Given the description of an element on the screen output the (x, y) to click on. 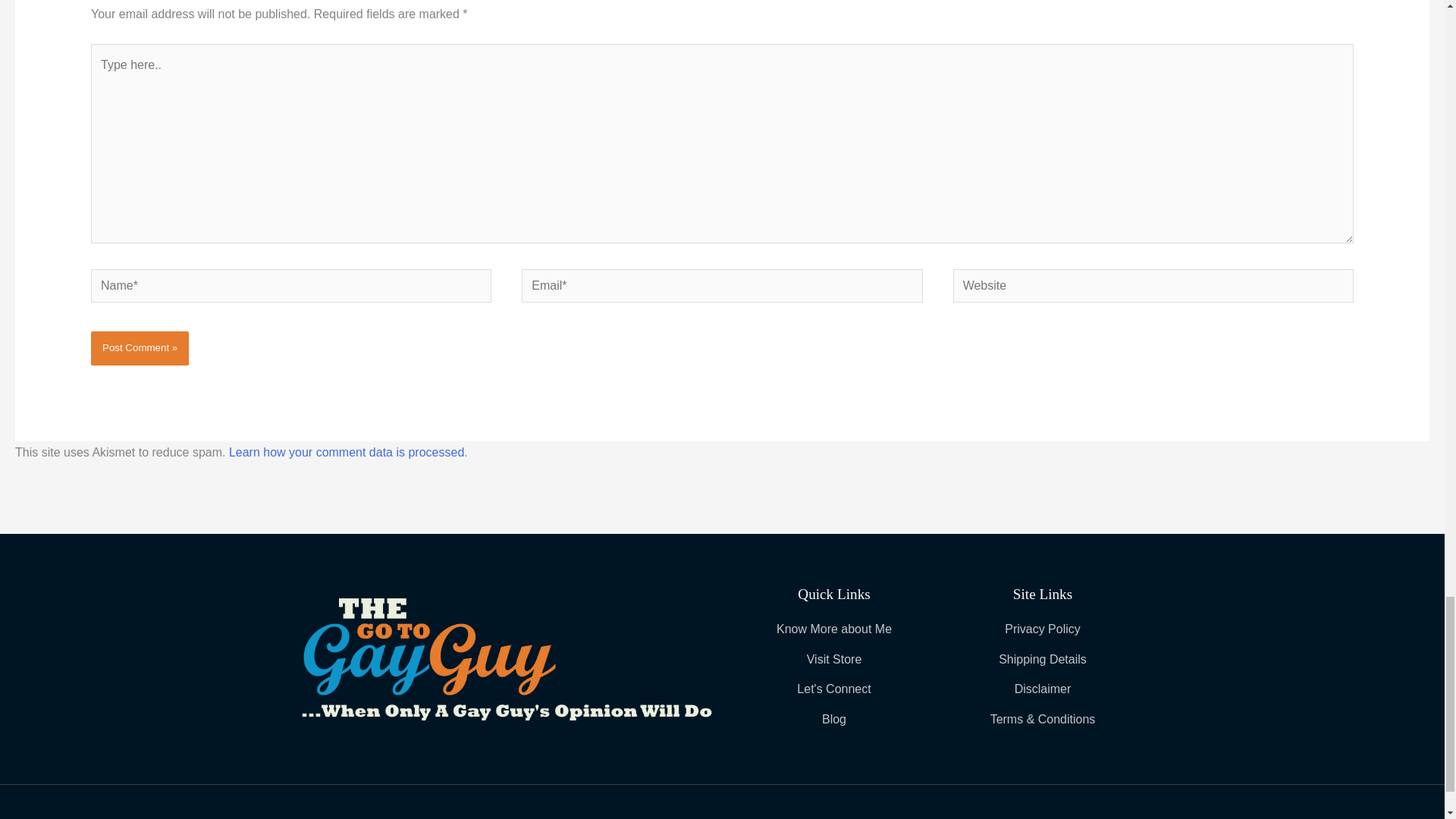
Know More about Me (833, 629)
Visit Store (833, 659)
Learn how your comment data is processed (346, 451)
